Given the description of an element on the screen output the (x, y) to click on. 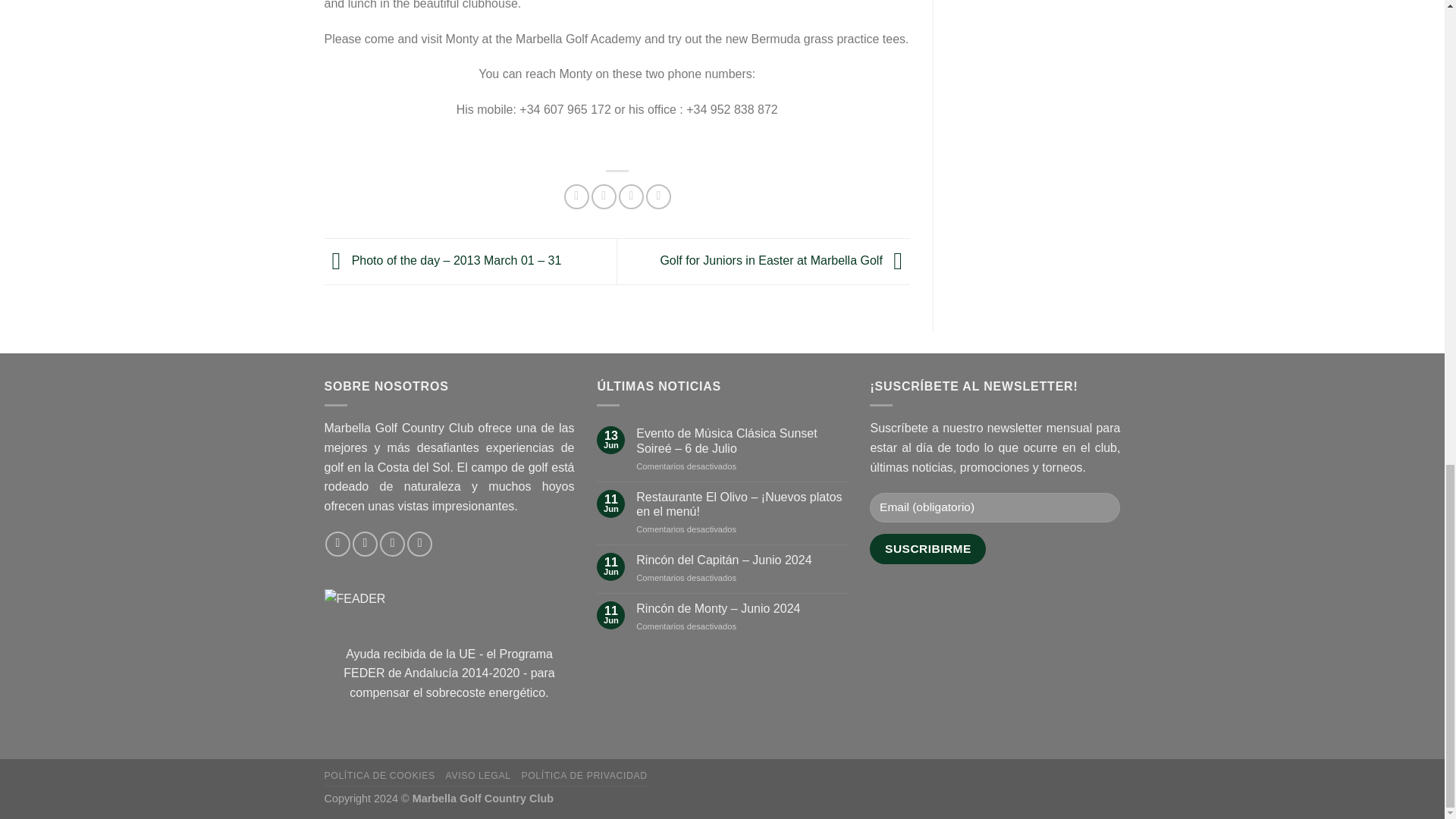
Compartir en Twitter (603, 196)
Compartir en Facebook (576, 196)
Suscribirme (927, 548)
